Given the description of an element on the screen output the (x, y) to click on. 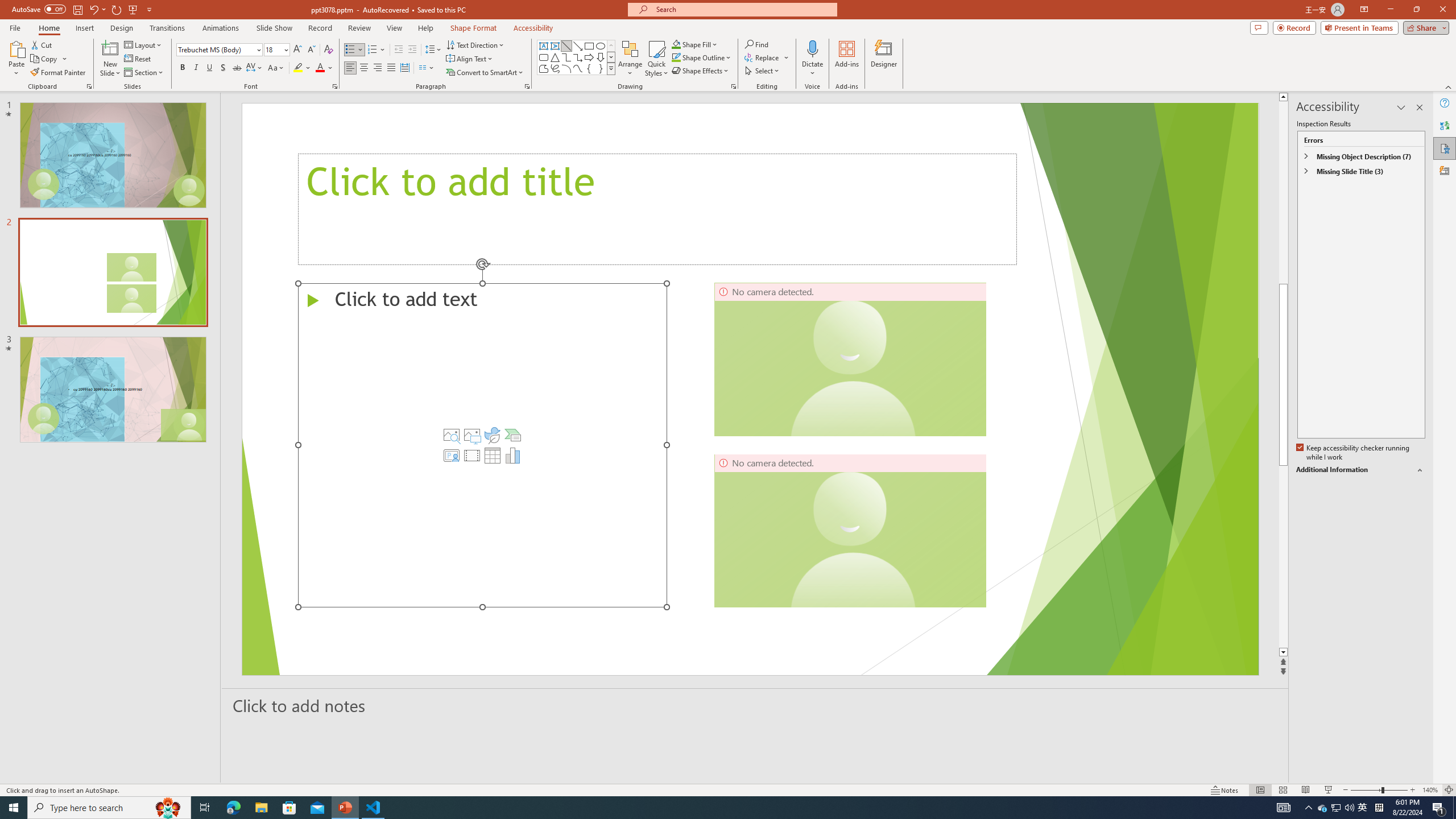
Insert Cameo (451, 455)
Vertical Text Box (554, 45)
Curve (577, 68)
Shape Effects (700, 69)
Strikethrough (237, 67)
Section (144, 72)
Align Text (470, 58)
Rectangle: Rounded Corners (543, 57)
Shapes (611, 68)
